Given the description of an element on the screen output the (x, y) to click on. 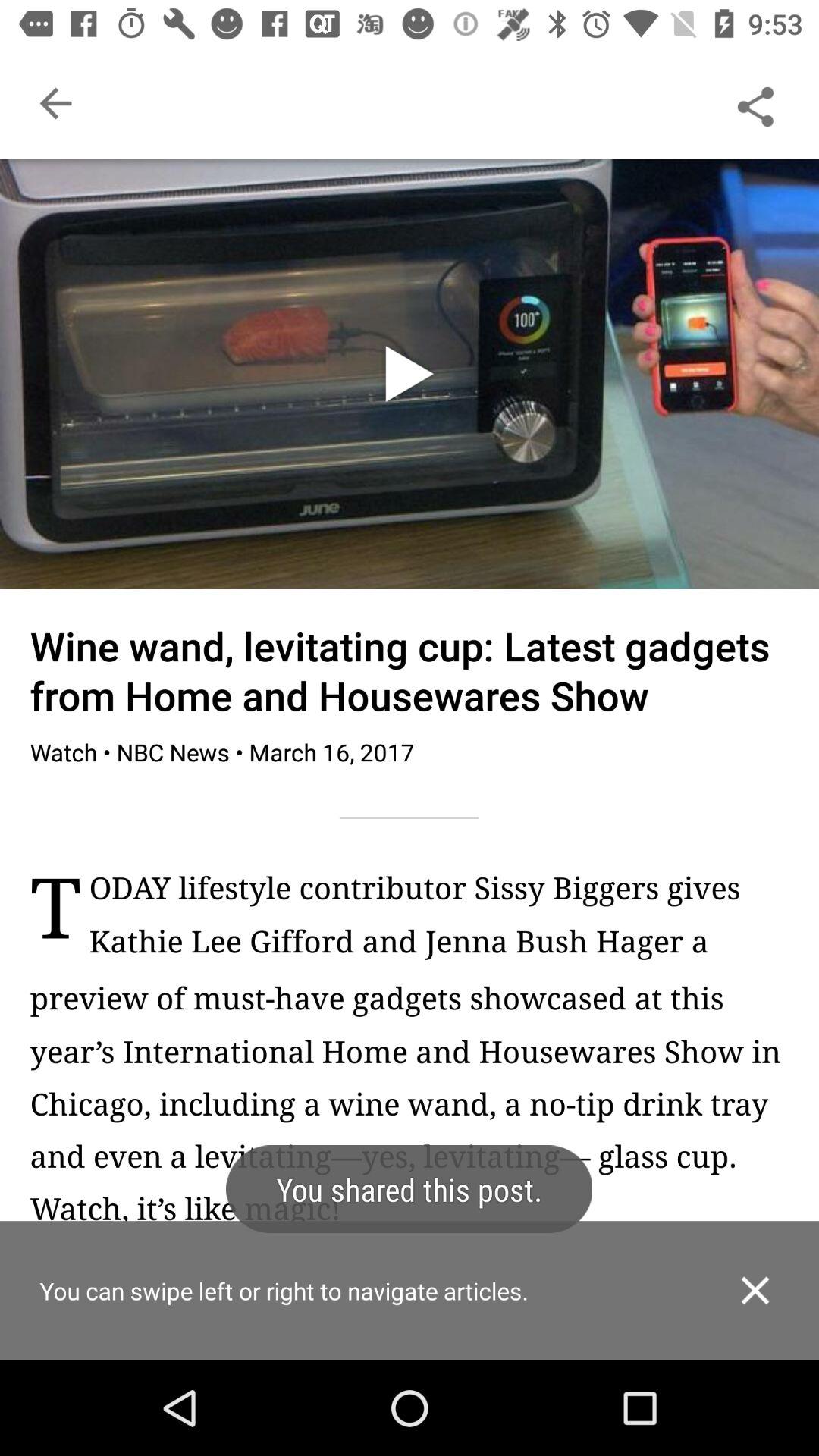
share this article (755, 103)
